Given the description of an element on the screen output the (x, y) to click on. 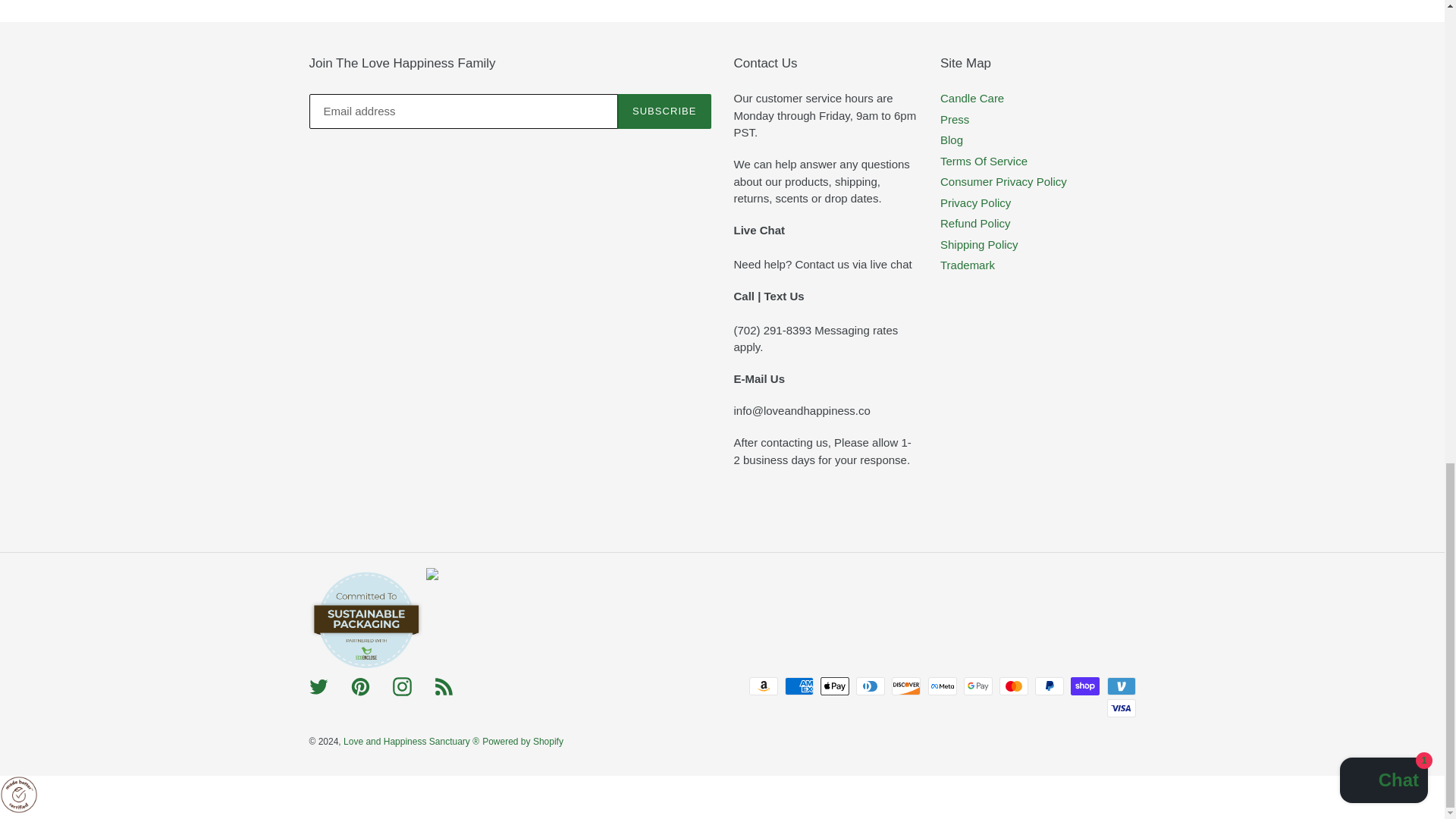
Privacy Policy (975, 202)
Trademark (967, 264)
Press (954, 119)
Candle Care (972, 97)
Blog (951, 139)
Shipping Policy (978, 244)
Refund Policy (975, 223)
Terms Of Service (983, 160)
Consumer Privacy Policy (1003, 181)
SUBSCRIBE (664, 111)
